Given the description of an element on the screen output the (x, y) to click on. 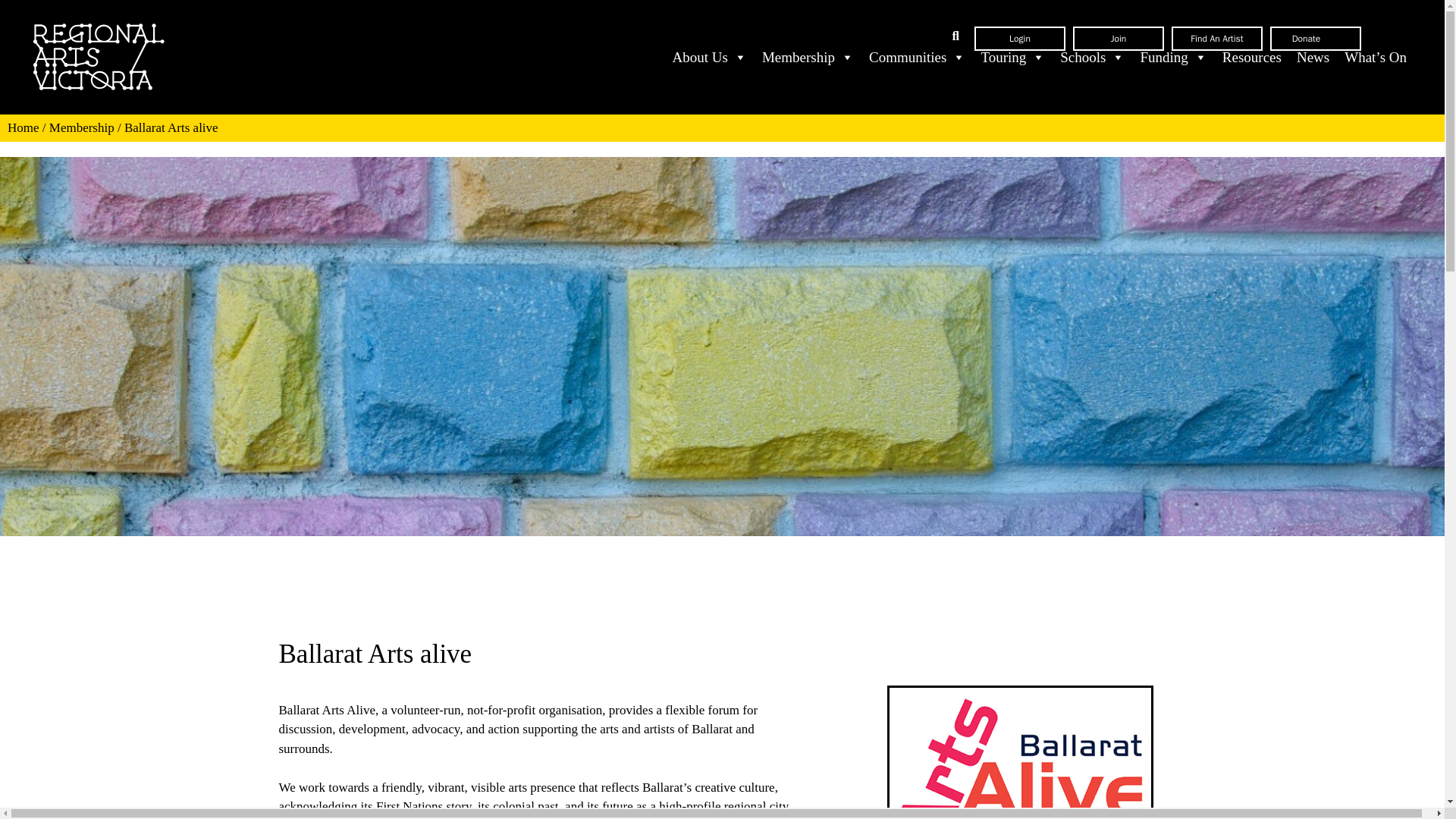
Touring (1012, 57)
Schools (1092, 57)
Membership (807, 57)
Communities (916, 57)
About Us (709, 57)
